Given the description of an element on the screen output the (x, y) to click on. 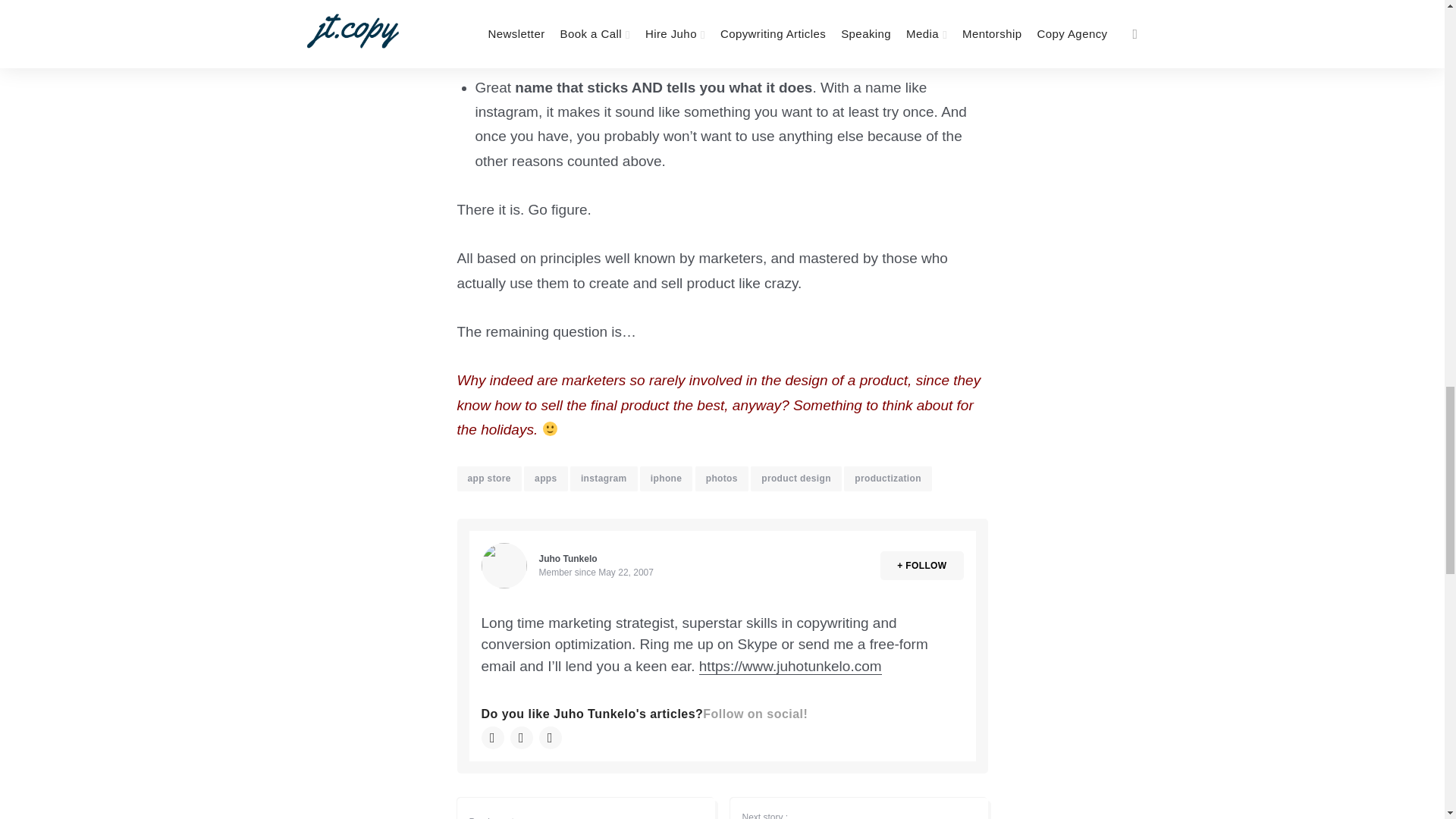
apps (545, 478)
instagram (603, 478)
app store (489, 478)
